Given the description of an element on the screen output the (x, y) to click on. 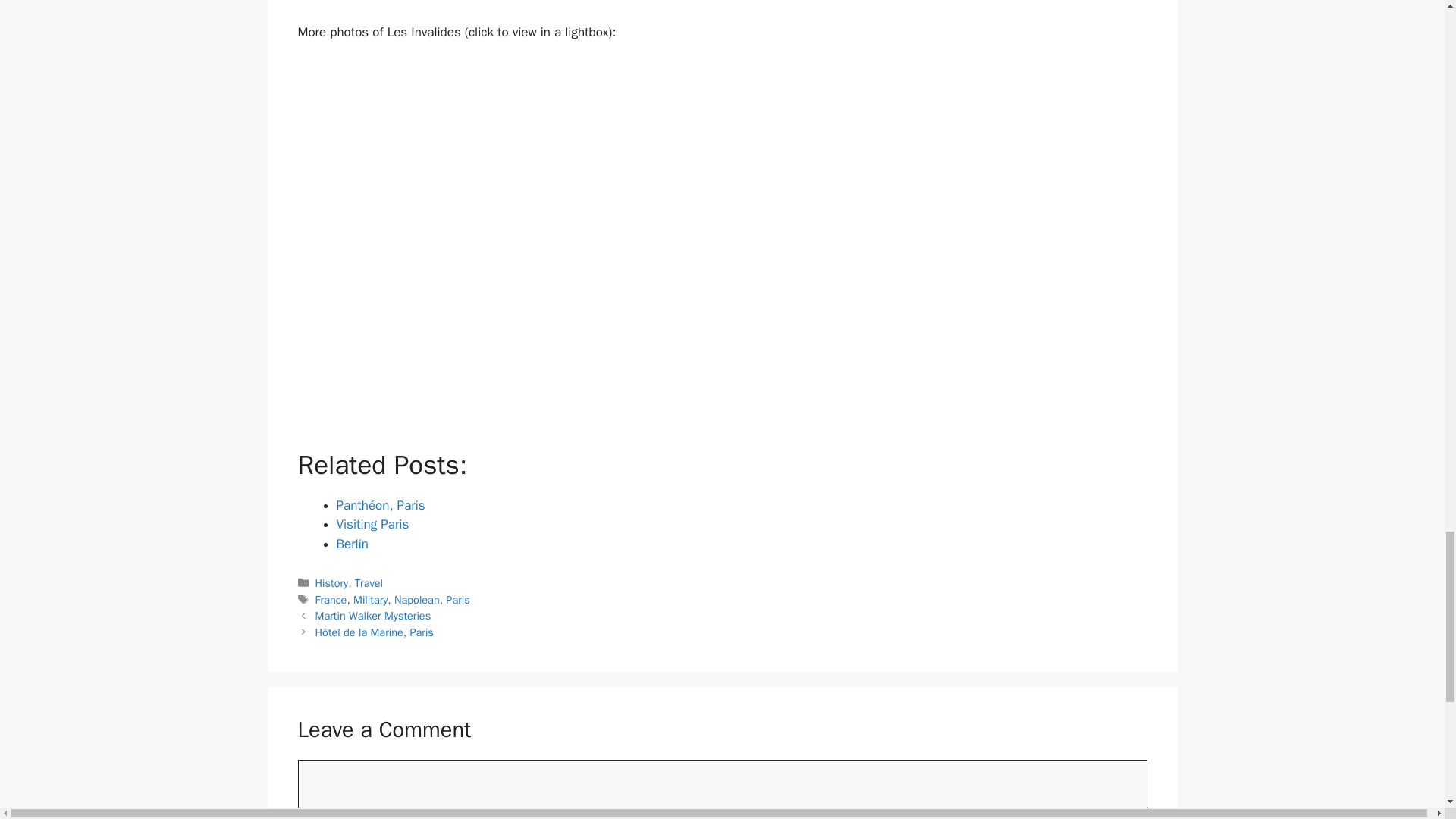
Military (370, 599)
Martin Walker Mysteries (372, 615)
Berlin (352, 543)
Paris (456, 599)
History (332, 582)
Napolean (416, 599)
France (331, 599)
Alfred Dreyfus (617, 0)
Visiting Paris (372, 524)
Travel (368, 582)
